Given the description of an element on the screen output the (x, y) to click on. 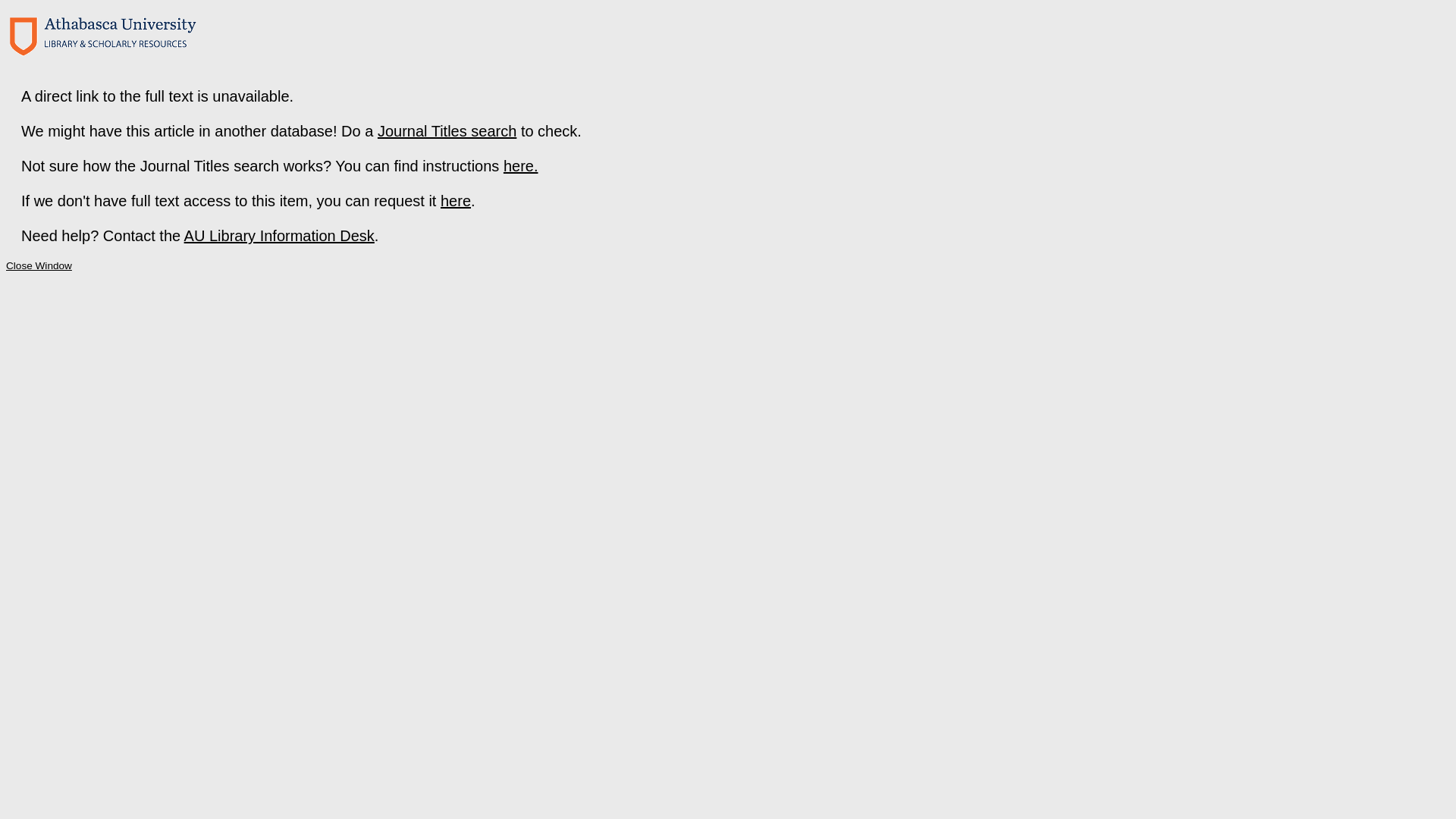
here Element type: text (455, 200)
AU Library Information Desk Element type: text (279, 235)
Journal Titles search Element type: text (446, 130)
here. Element type: text (520, 165)
Close Window Element type: text (39, 265)
